Given the description of an element on the screen output the (x, y) to click on. 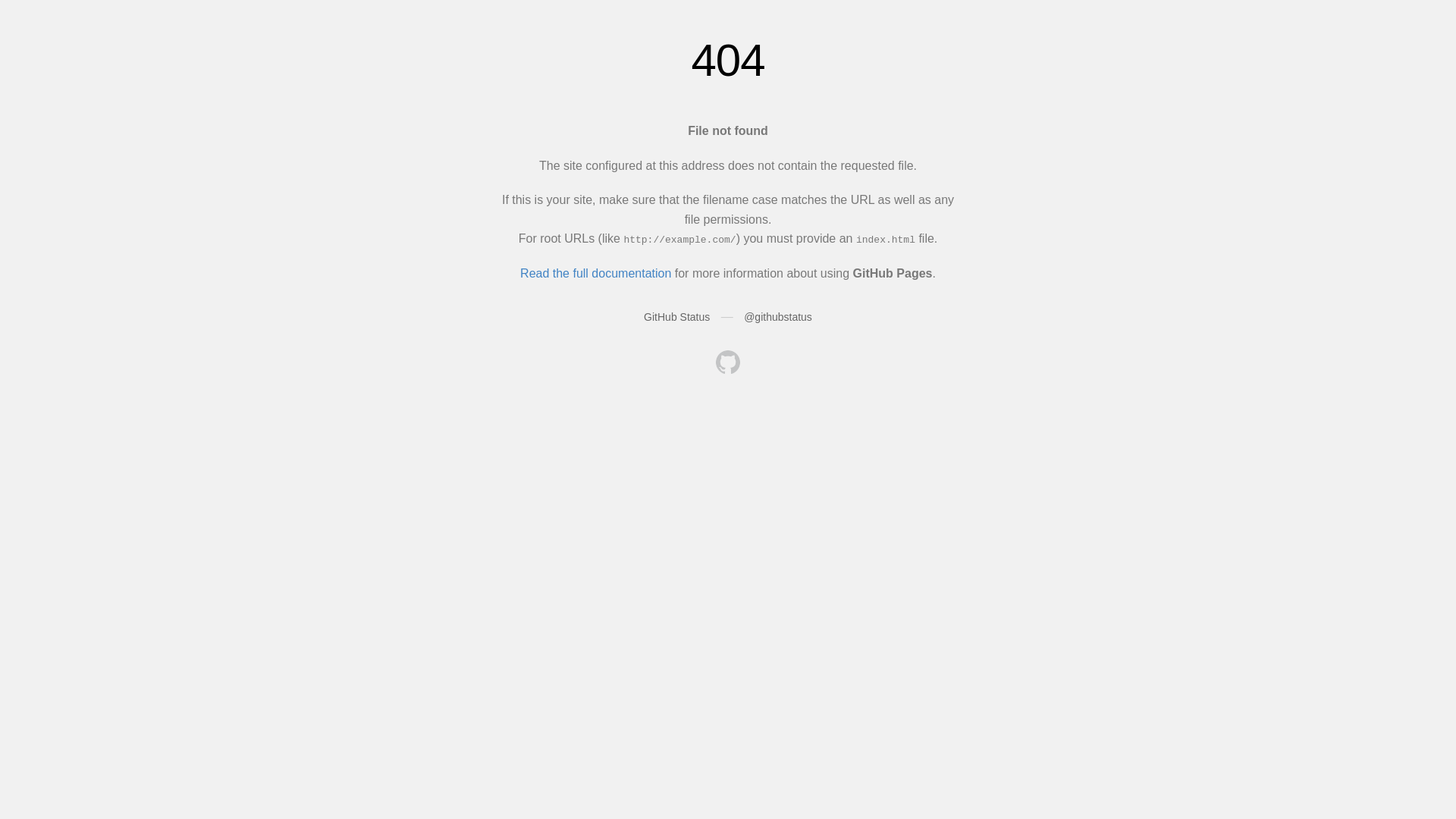
@githubstatus Element type: text (777, 316)
GitHub Status Element type: text (676, 316)
Read the full documentation Element type: text (595, 272)
